Given the description of an element on the screen output the (x, y) to click on. 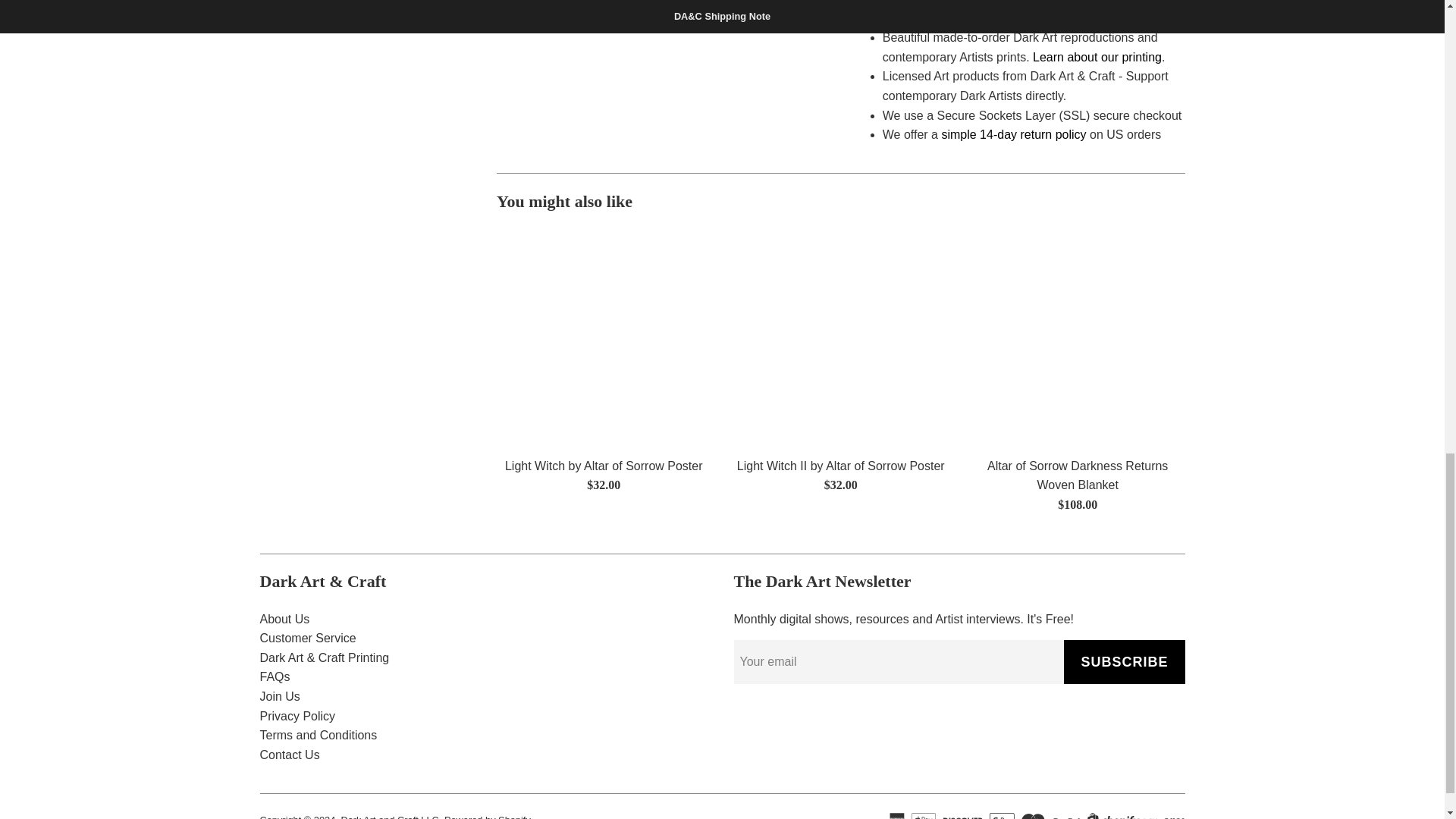
Light Witch II by Altar of Sorrow Poster (840, 338)
Altar of Sorrow Darkness Returns Woven Blanket (1078, 338)
Light Witch by Altar of Sorrow Poster (603, 338)
